Given the description of an element on the screen output the (x, y) to click on. 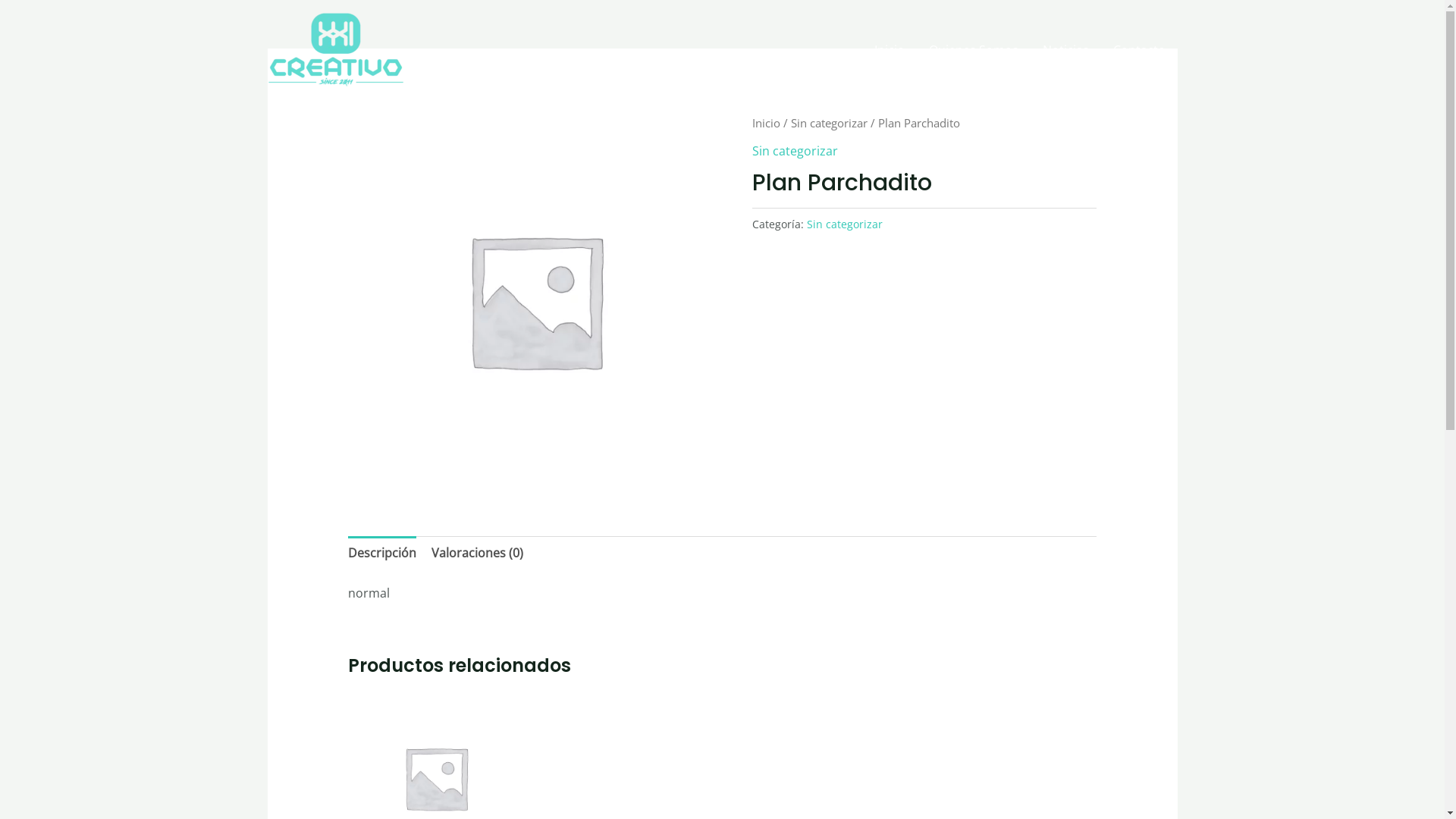
Inicio Element type: text (888, 48)
Valoraciones (0) Element type: text (477, 553)
Sin categorizar Element type: text (794, 150)
Contacto Element type: text (1139, 48)
Inicio Element type: text (766, 122)
Sin categorizar Element type: text (828, 122)
Quienes Somos Element type: text (972, 48)
Sin categorizar Element type: text (844, 223)
Noticias Element type: text (1064, 48)
